Given the description of an element on the screen output the (x, y) to click on. 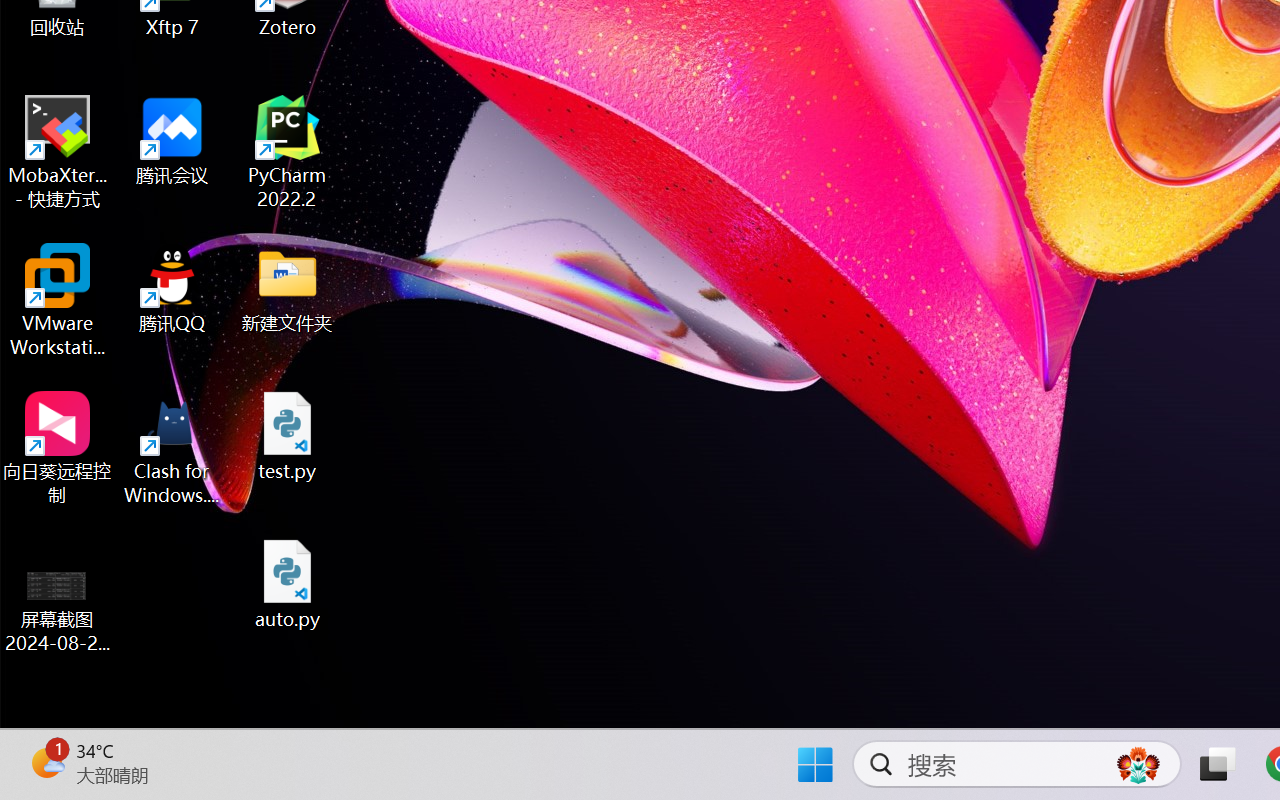
auto.py (287, 584)
test.py (287, 436)
PyCharm 2022.2 (287, 152)
VMware Workstation Pro (57, 300)
